Given the description of an element on the screen output the (x, y) to click on. 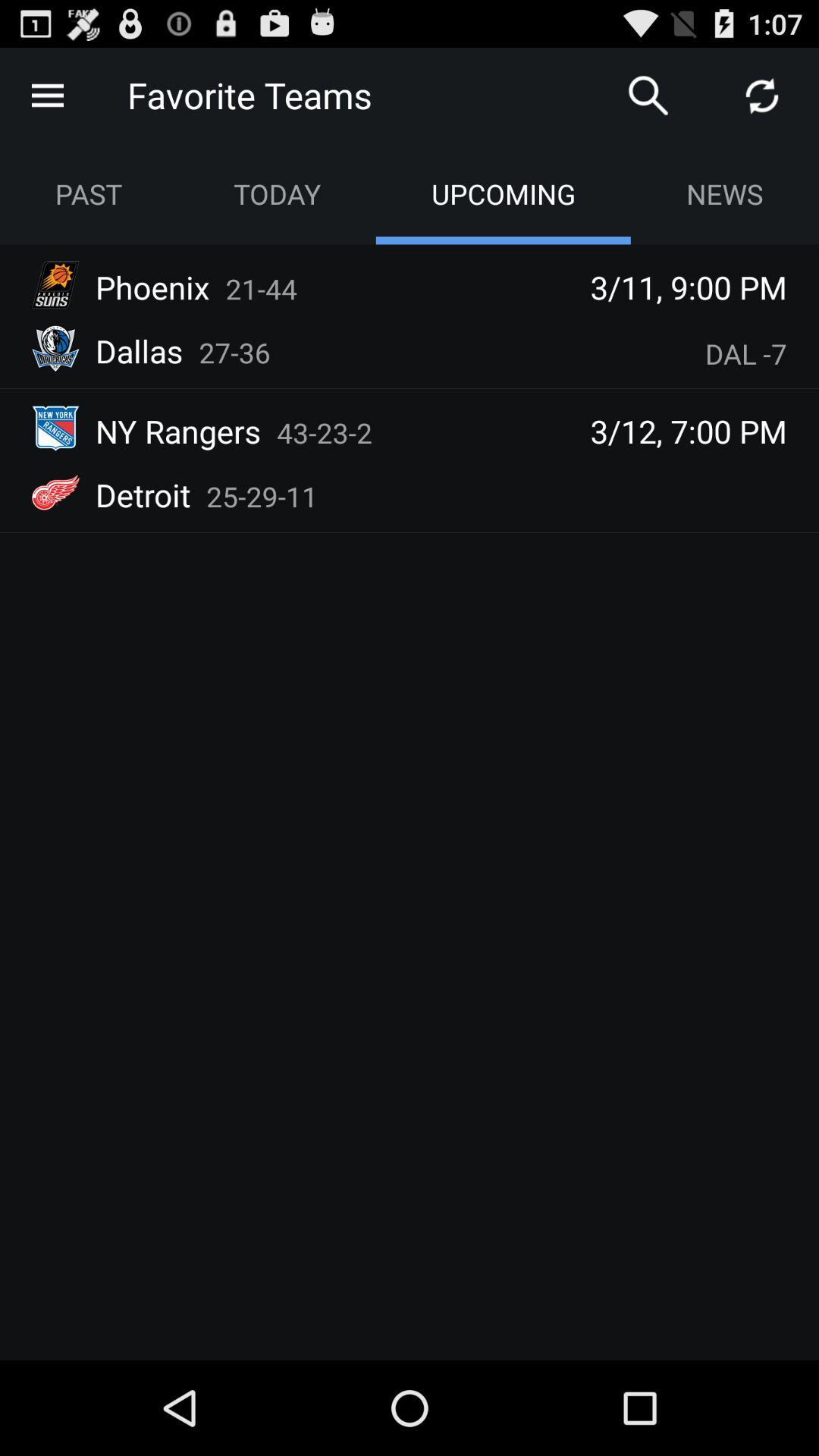
search any one (648, 95)
